Given the description of an element on the screen output the (x, y) to click on. 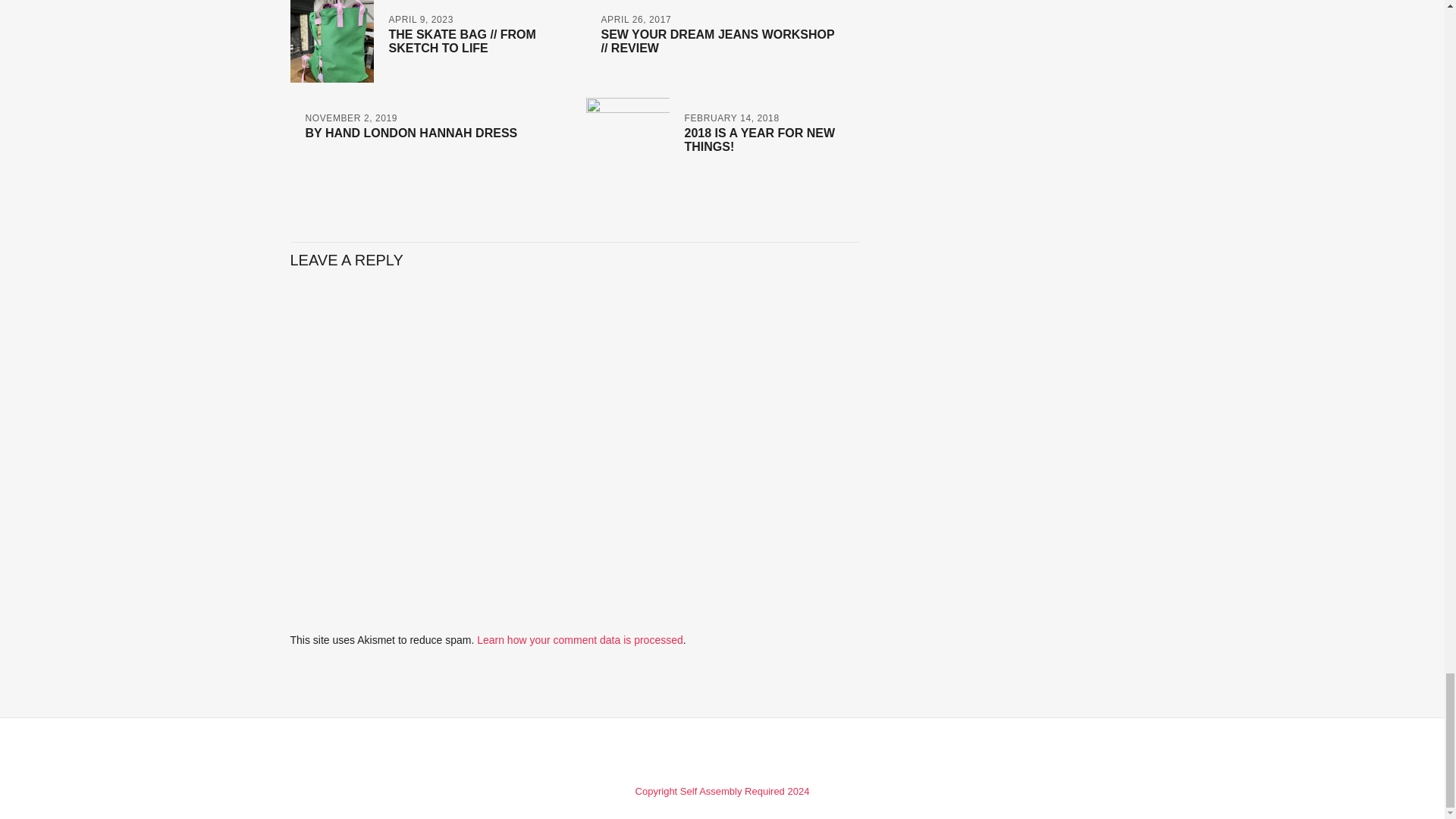
2018 IS A YEAR FOR NEW THINGS! (759, 139)
Learn how your comment data is processed (579, 639)
BY HAND LONDON HANNAH DRESS (410, 132)
